Given the description of an element on the screen output the (x, y) to click on. 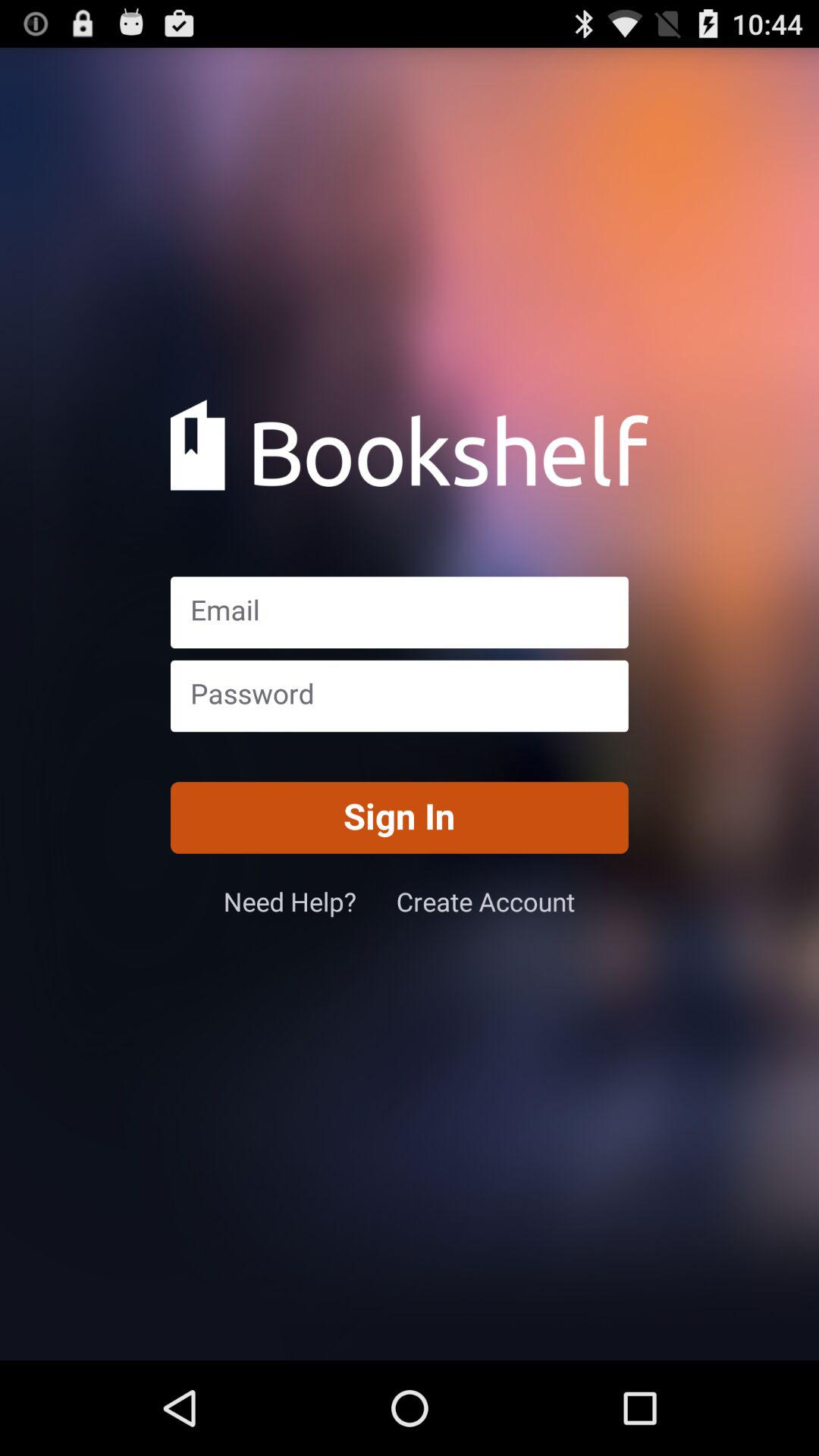
click icon above need help? button (399, 817)
